Given the description of an element on the screen output the (x, y) to click on. 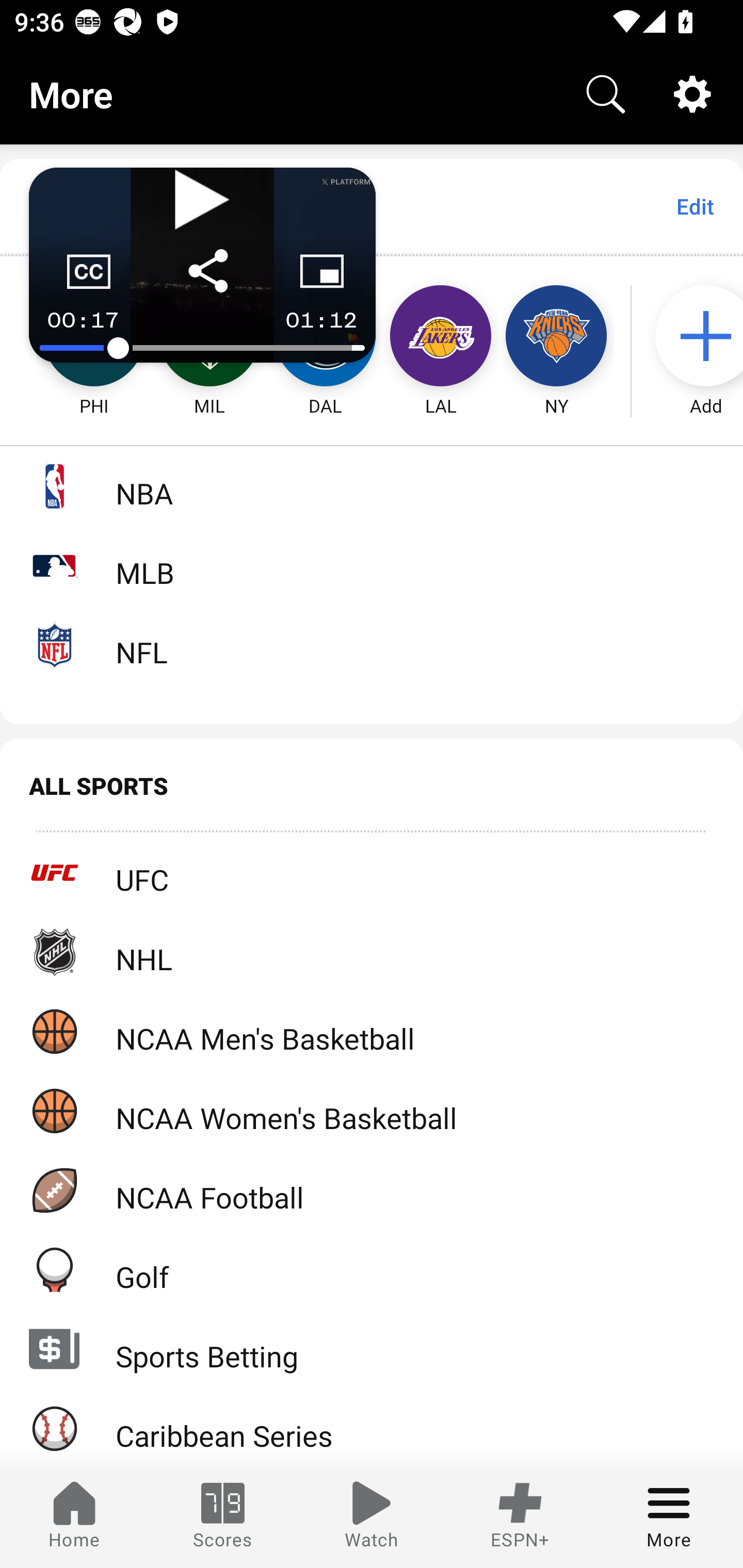
Search (605, 93)
Settings (692, 93)
Edit (695, 205)
LAL Los Angeles Lakers (440, 336)
NY New York Knicks (555, 336)
 Add (695, 336)
NBA (371, 485)
MLB (371, 565)
NFL (371, 645)
UFC (371, 872)
NHL (371, 951)
NCAA Men's Basketball (371, 1030)
NCAA Women's Basketball (371, 1110)
NCAA Football (371, 1189)
Golf (371, 1269)
Sports Betting (371, 1349)
Caribbean Series (371, 1428)
Home (74, 1517)
Scores (222, 1517)
Watch (371, 1517)
ESPN+ (519, 1517)
